Given the description of an element on the screen output the (x, y) to click on. 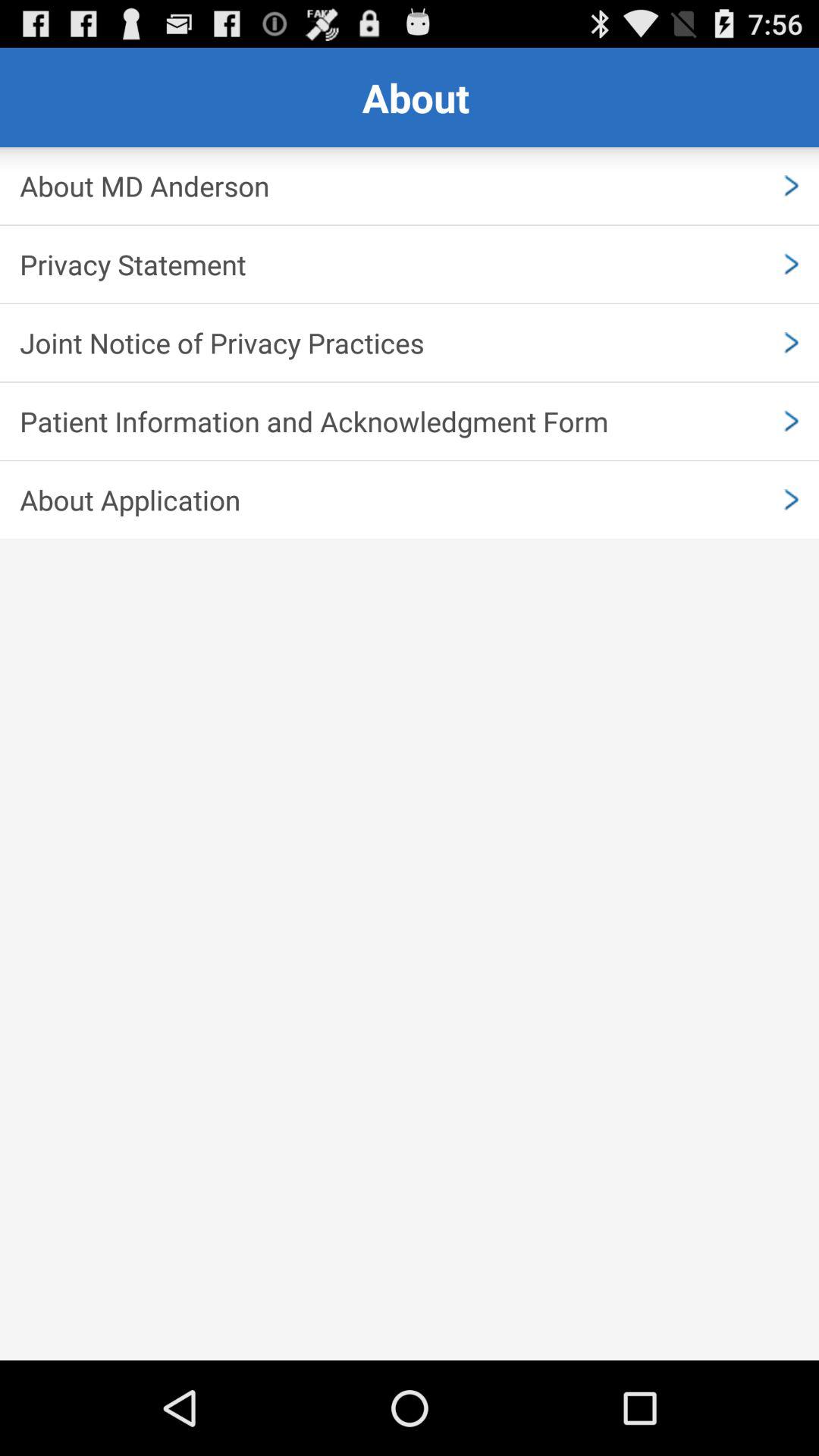
select item below the patient information and item (409, 499)
